Given the description of an element on the screen output the (x, y) to click on. 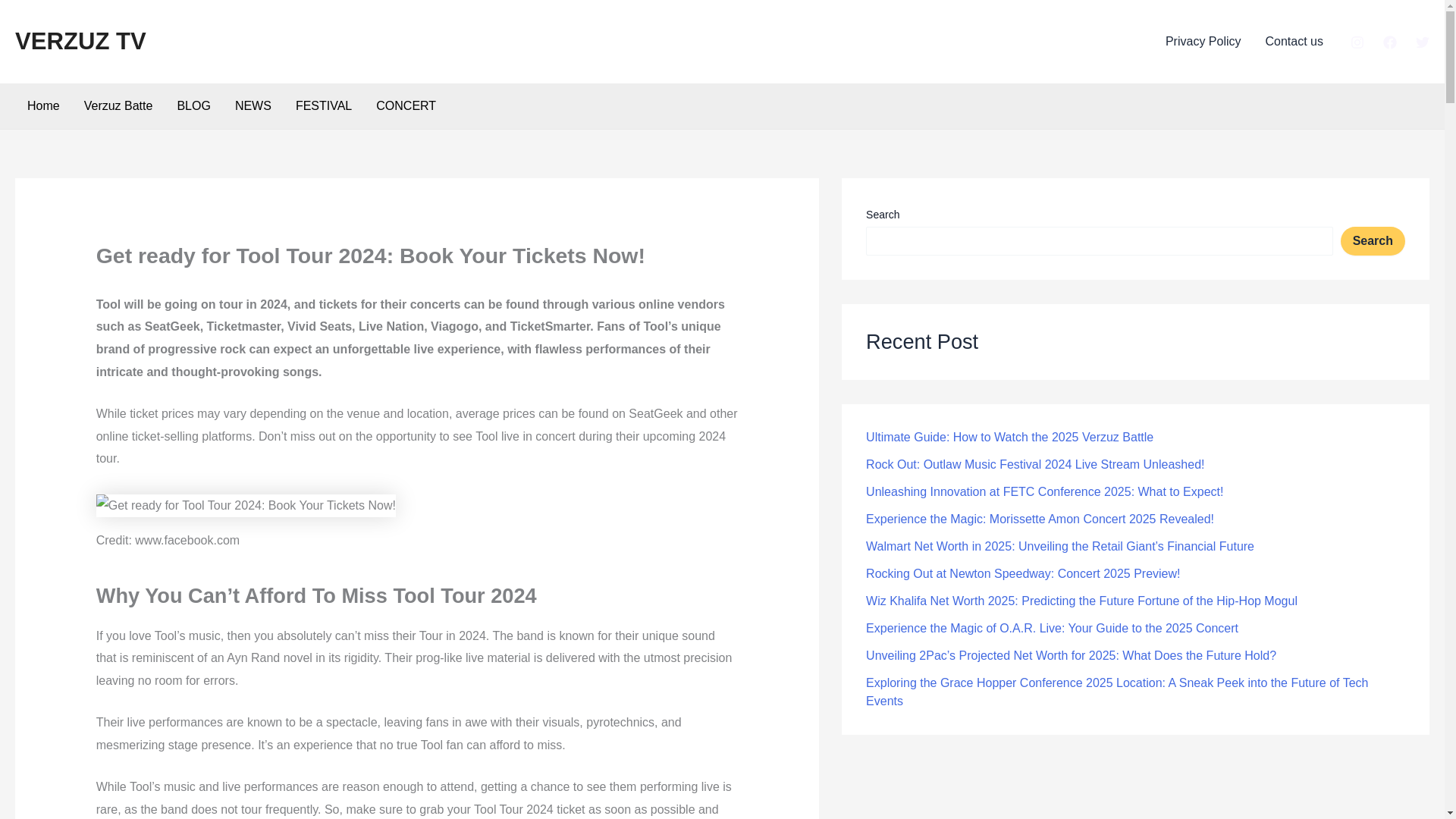
Search (1372, 240)
NEWS (252, 105)
Verzuz Batte (118, 105)
Privacy Policy (1203, 41)
BLOG (193, 105)
FESTIVAL (323, 105)
Ultimate Guide: How to Watch the 2025 Verzuz Battle (1009, 436)
Experience the Magic: Morissette Amon Concert 2025 Revealed! (1040, 518)
